Given the description of an element on the screen output the (x, y) to click on. 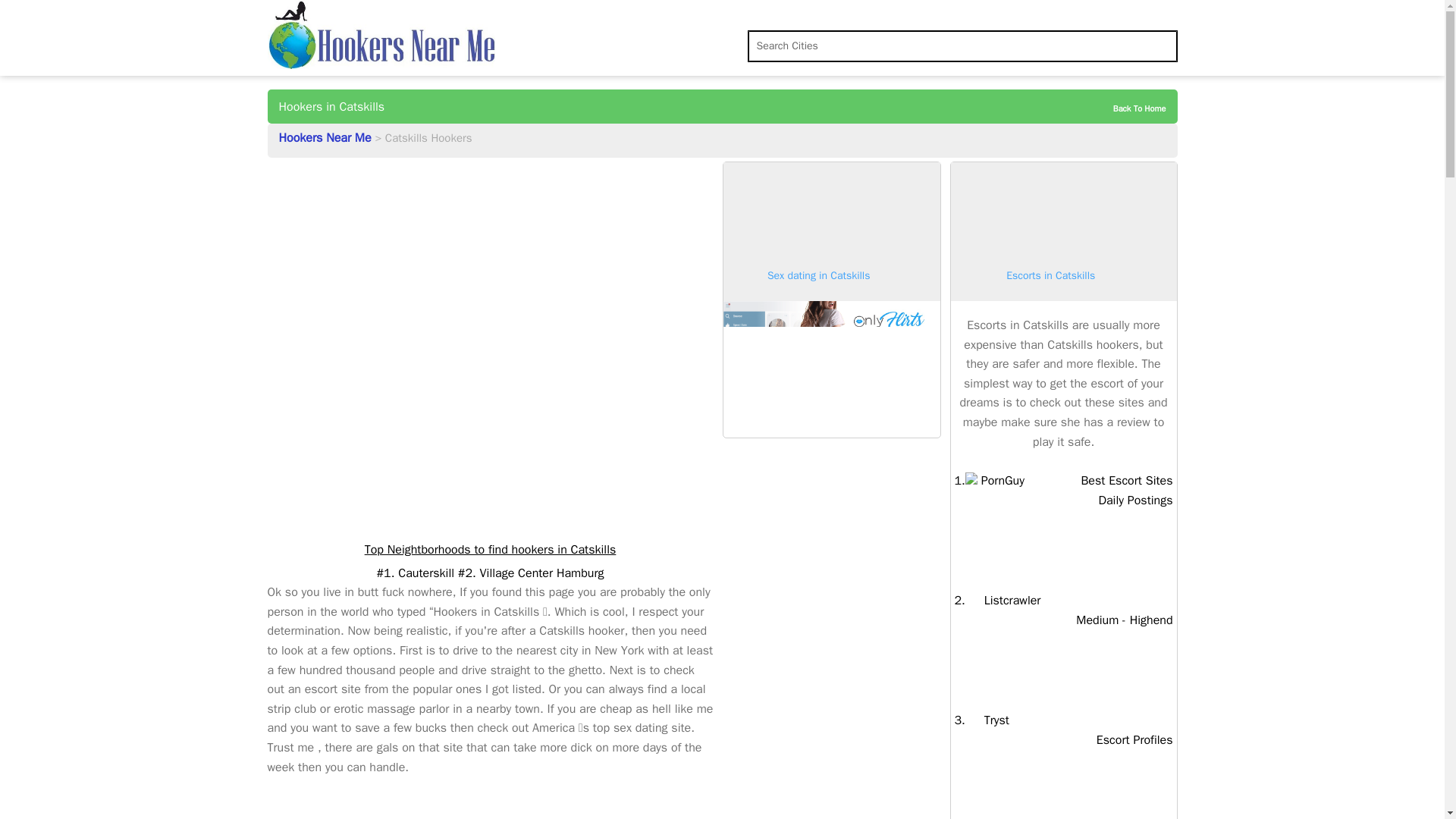
Back To Home (995, 480)
Search (1126, 108)
Catskills, New York (24, 14)
